Given the description of an element on the screen output the (x, y) to click on. 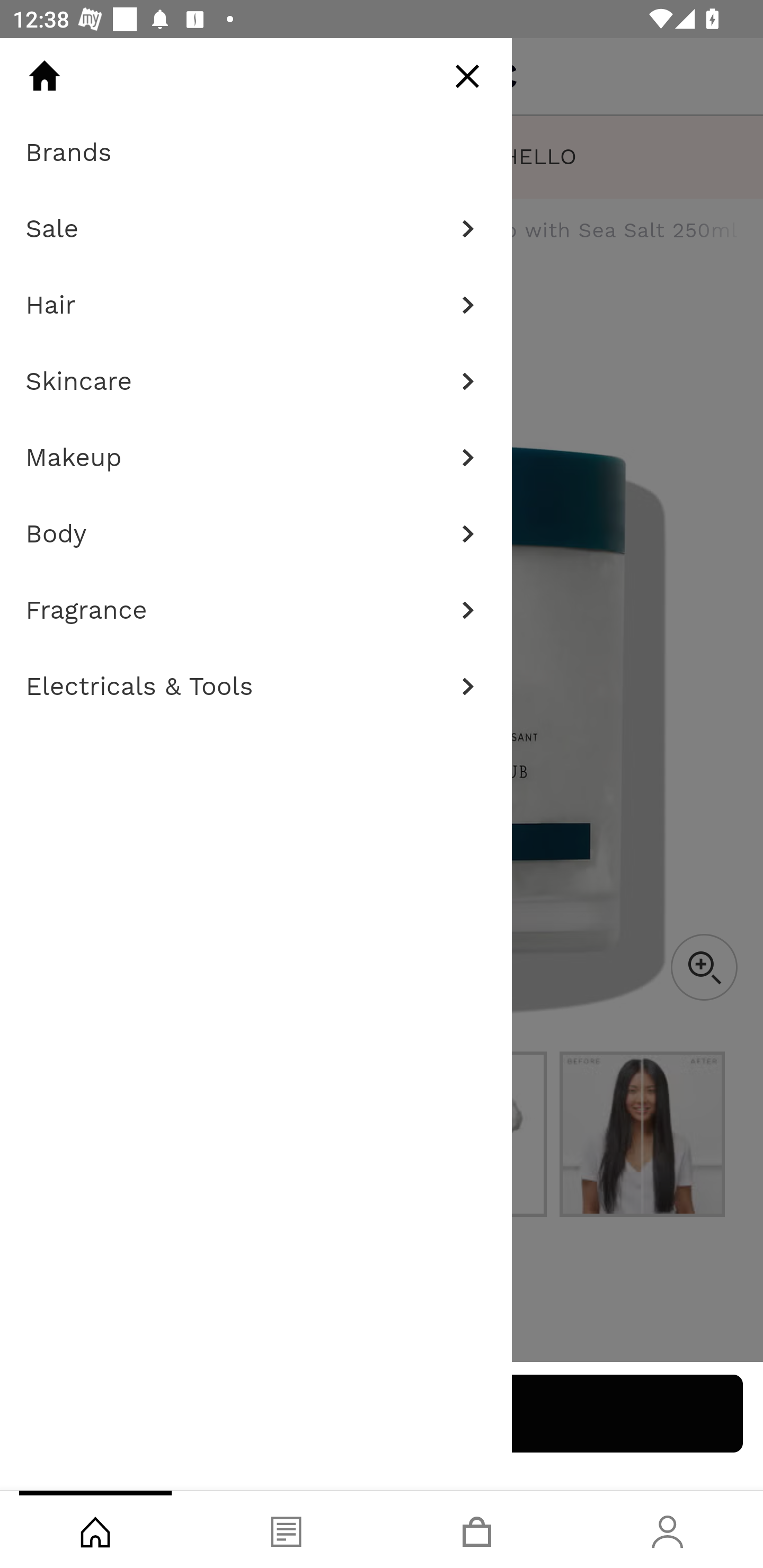
Home (44, 75)
Close Menu (467, 75)
Brands (255, 152)
Sale (255, 228)
Hair (255, 304)
Skincare (255, 381)
Makeup (255, 457)
Body (255, 533)
Fragrance (255, 610)
Electricals & Tools (255, 686)
Shop, tab, 1 of 4 (95, 1529)
Blog, tab, 2 of 4 (285, 1529)
Basket, tab, 3 of 4 (476, 1529)
Account, tab, 4 of 4 (667, 1529)
